Given the description of an element on the screen output the (x, y) to click on. 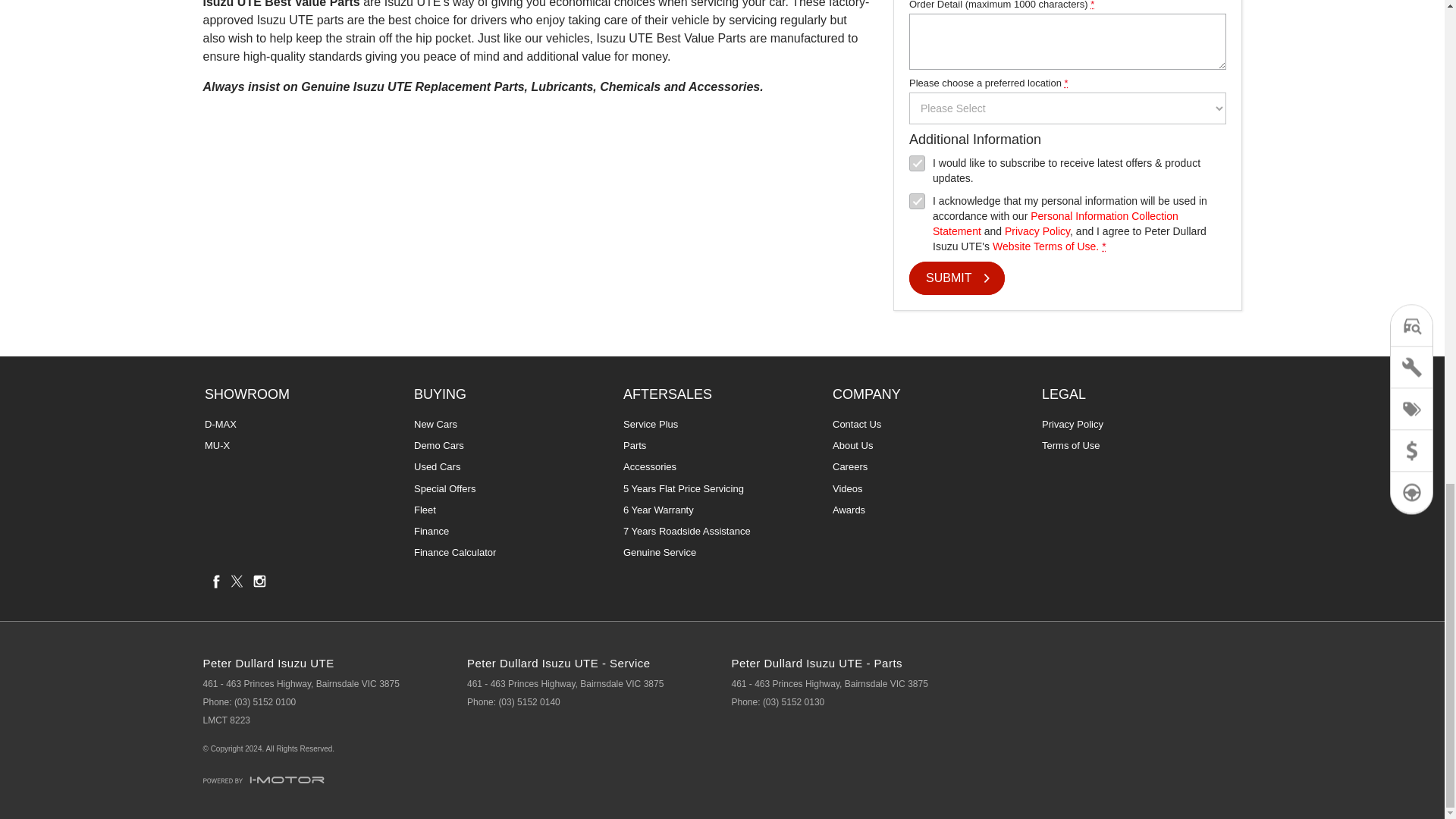
on (916, 163)
on (916, 201)
This field is required. (1092, 4)
This field is required. (1065, 82)
This field is required. (1103, 246)
